Given the description of an element on the screen output the (x, y) to click on. 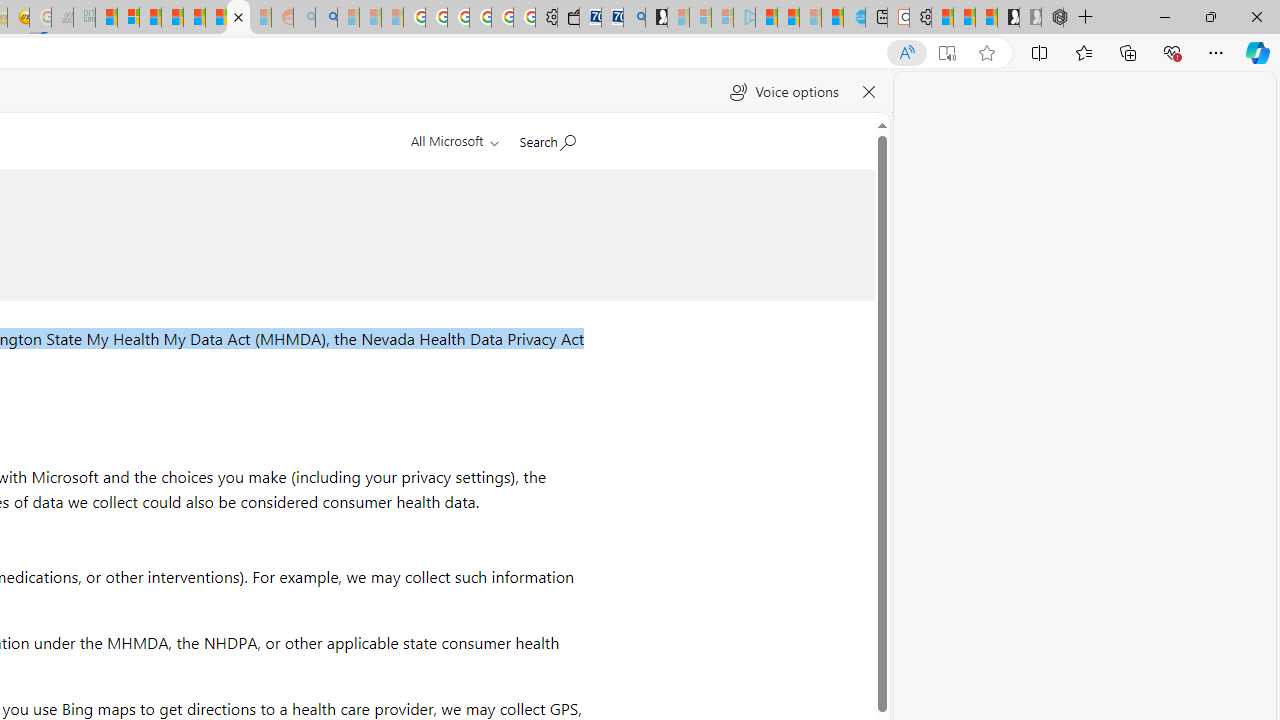
Wallet (568, 17)
Microsoft account | Privacy - Sleeping (722, 17)
Kinda Frugal - MSN (216, 17)
Bing Real Estate - Home sales and rental listings (634, 17)
Search Microsoft.com (546, 138)
Home | Sky Blue Bikes - Sky Blue Bikes (854, 17)
Consumer Health Data Privacy Policy (238, 17)
Microsoft Start Gaming (656, 17)
